Given the description of an element on the screen output the (x, y) to click on. 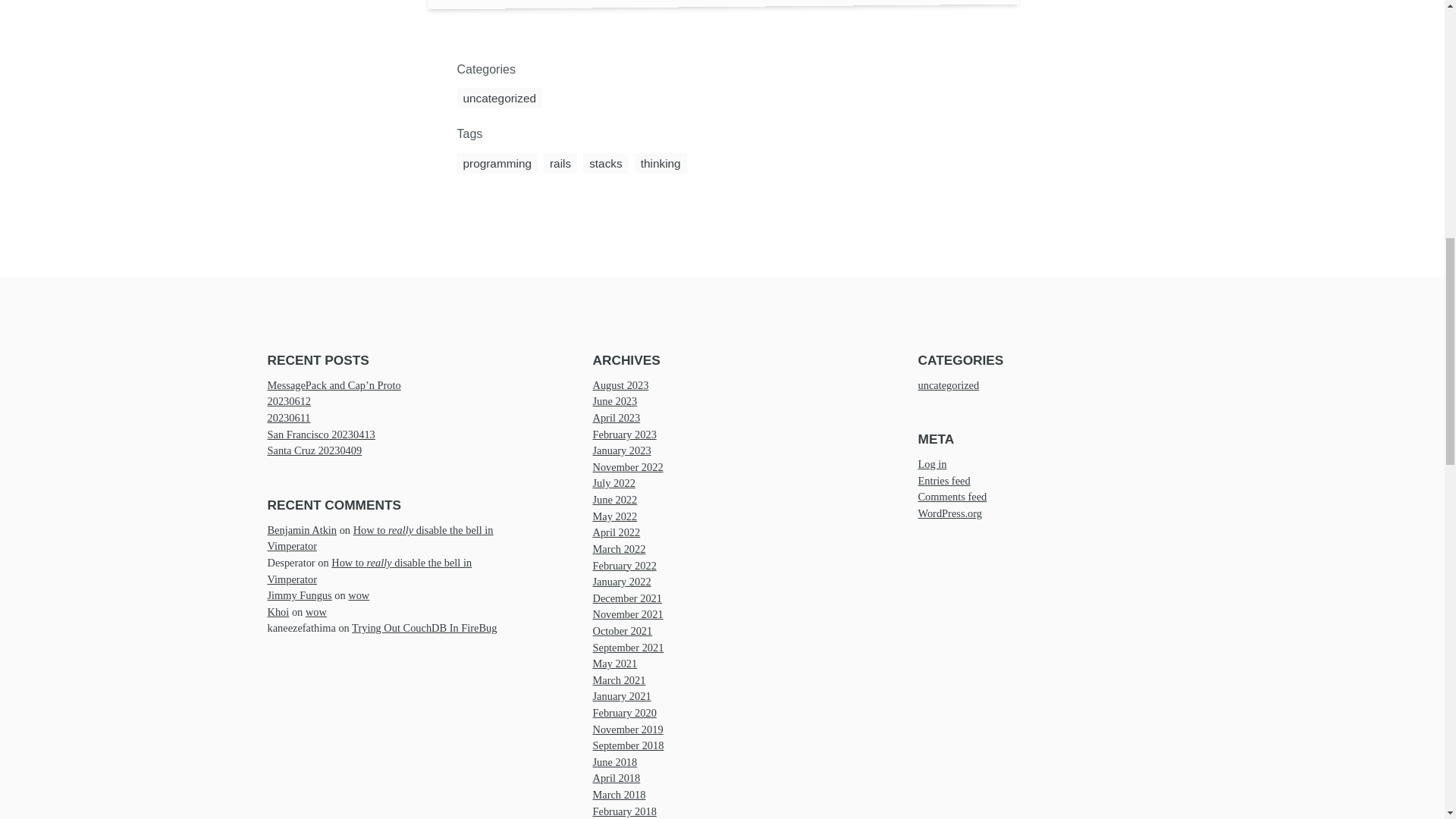
Trying Out CouchDB In FireBug (424, 627)
How to really disable the bell in Vimperator (379, 537)
August 2023 (620, 384)
February 2023 (624, 433)
wow (358, 594)
uncategorized (499, 97)
San Francisco 20230413 (320, 433)
20230611 (288, 417)
Khoi (277, 611)
June 2023 (614, 400)
Jimmy Fungus (298, 594)
November 2022 (627, 466)
wow (315, 611)
Benjamin Atkin (301, 529)
Santa Cruz 20230409 (313, 450)
